Given the description of an element on the screen output the (x, y) to click on. 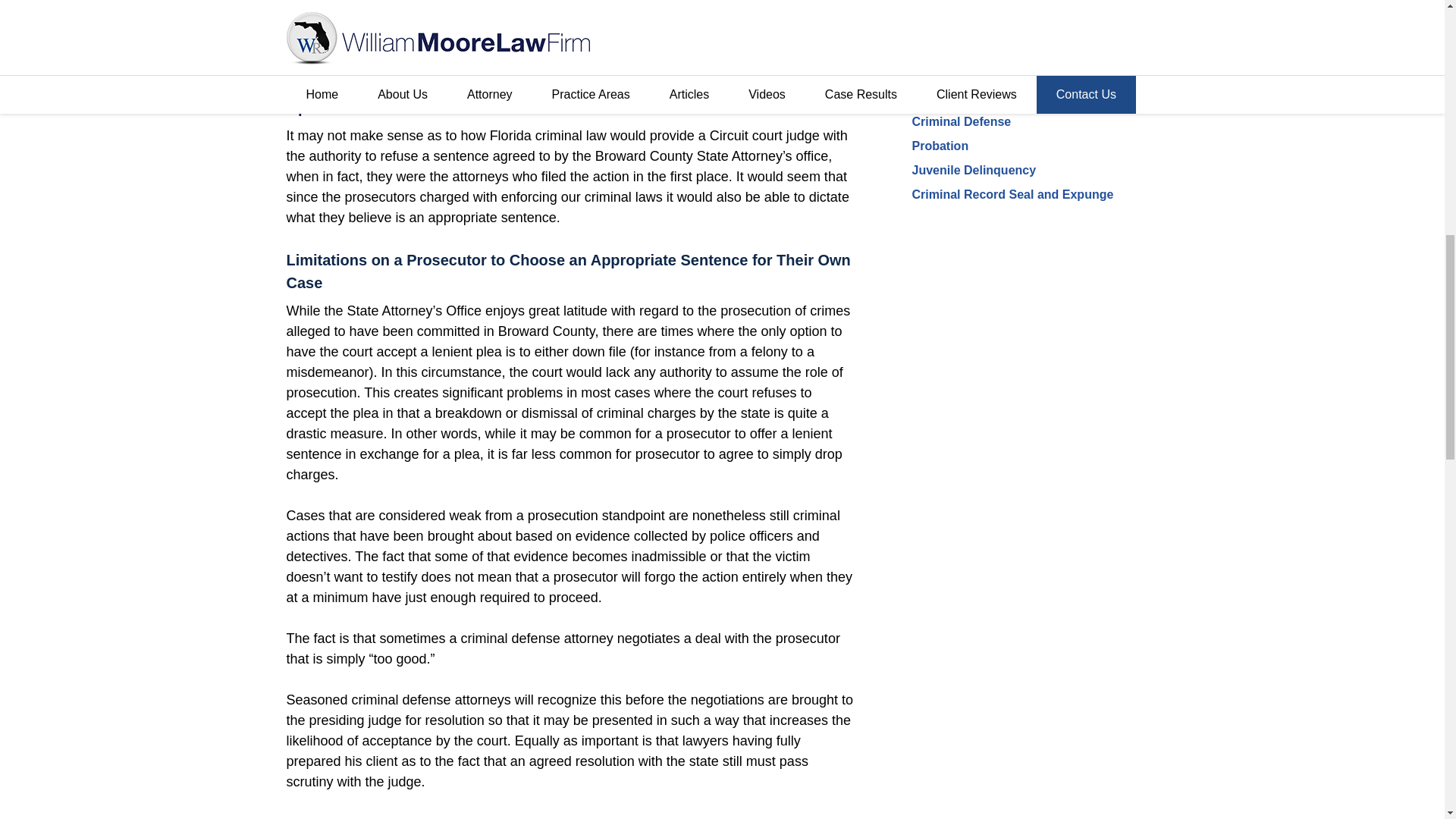
CONTACT US NOW (1024, 10)
Juvenile Delinquency (973, 169)
Criminal Defense (960, 121)
Probation (939, 145)
Criminal Record Seal and Expunge (1012, 194)
Practice Areas (960, 86)
